Given the description of an element on the screen output the (x, y) to click on. 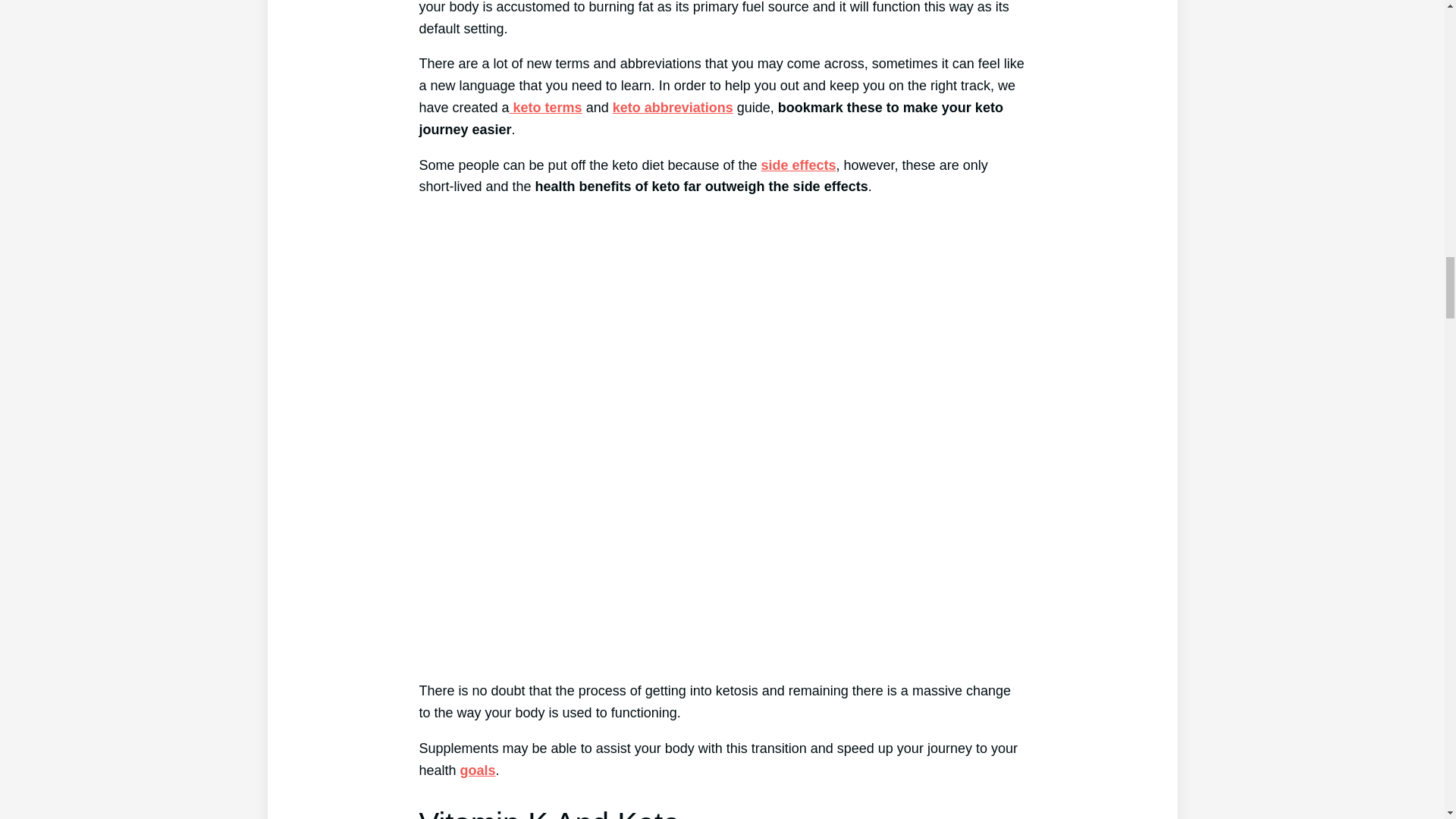
keto abbreviations (672, 107)
goals (478, 770)
keto terms (545, 107)
side effects (798, 165)
